Given the description of an element on the screen output the (x, y) to click on. 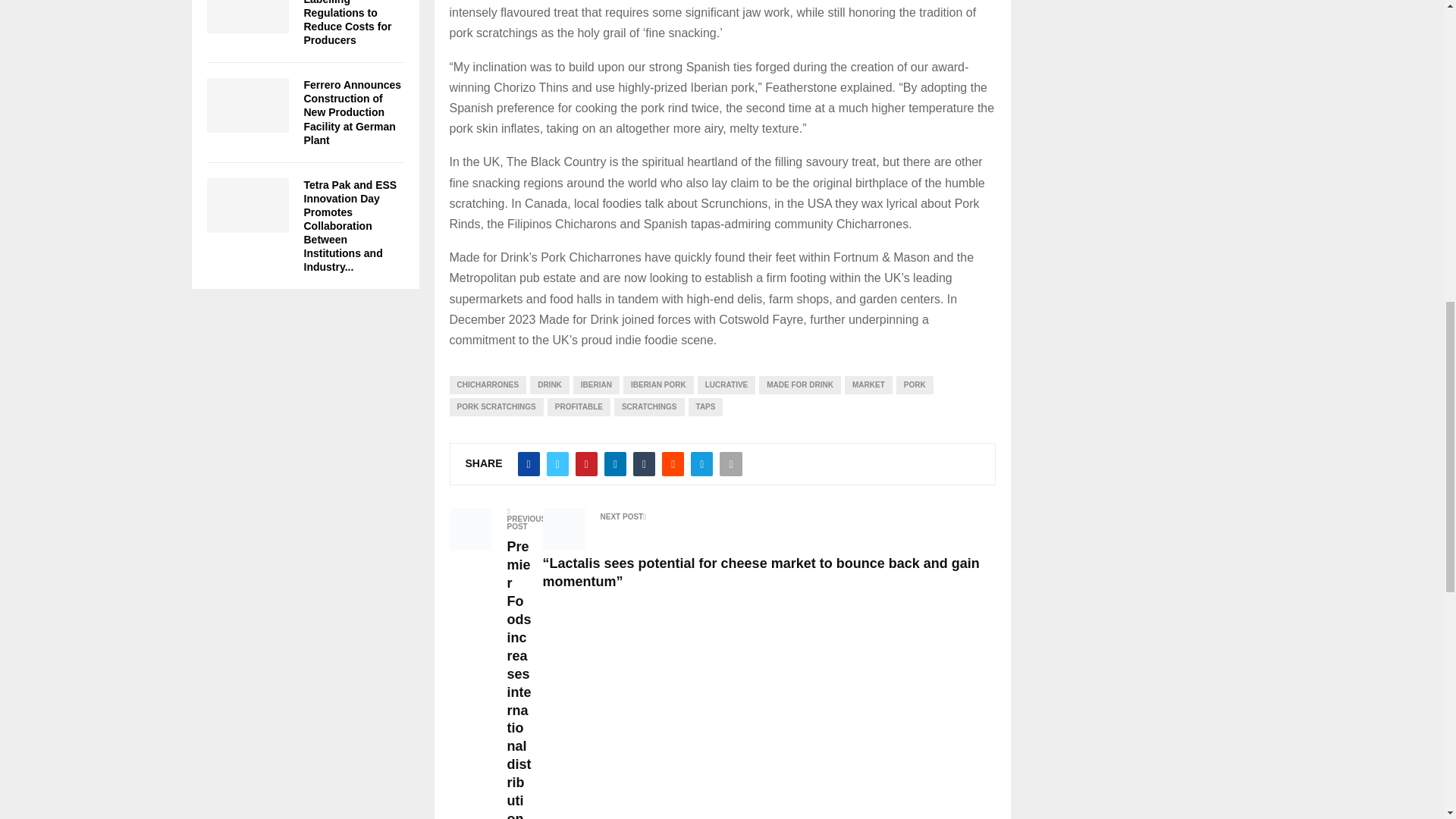
PROFITABLE (578, 407)
IBERIAN (596, 384)
IBERIAN PORK (658, 384)
DRINK (549, 384)
MADE FOR DRINK (799, 384)
MARKET (868, 384)
CHICHARRONES (486, 384)
SCRATCHINGS (649, 407)
TAPS (705, 407)
